Given the description of an element on the screen output the (x, y) to click on. 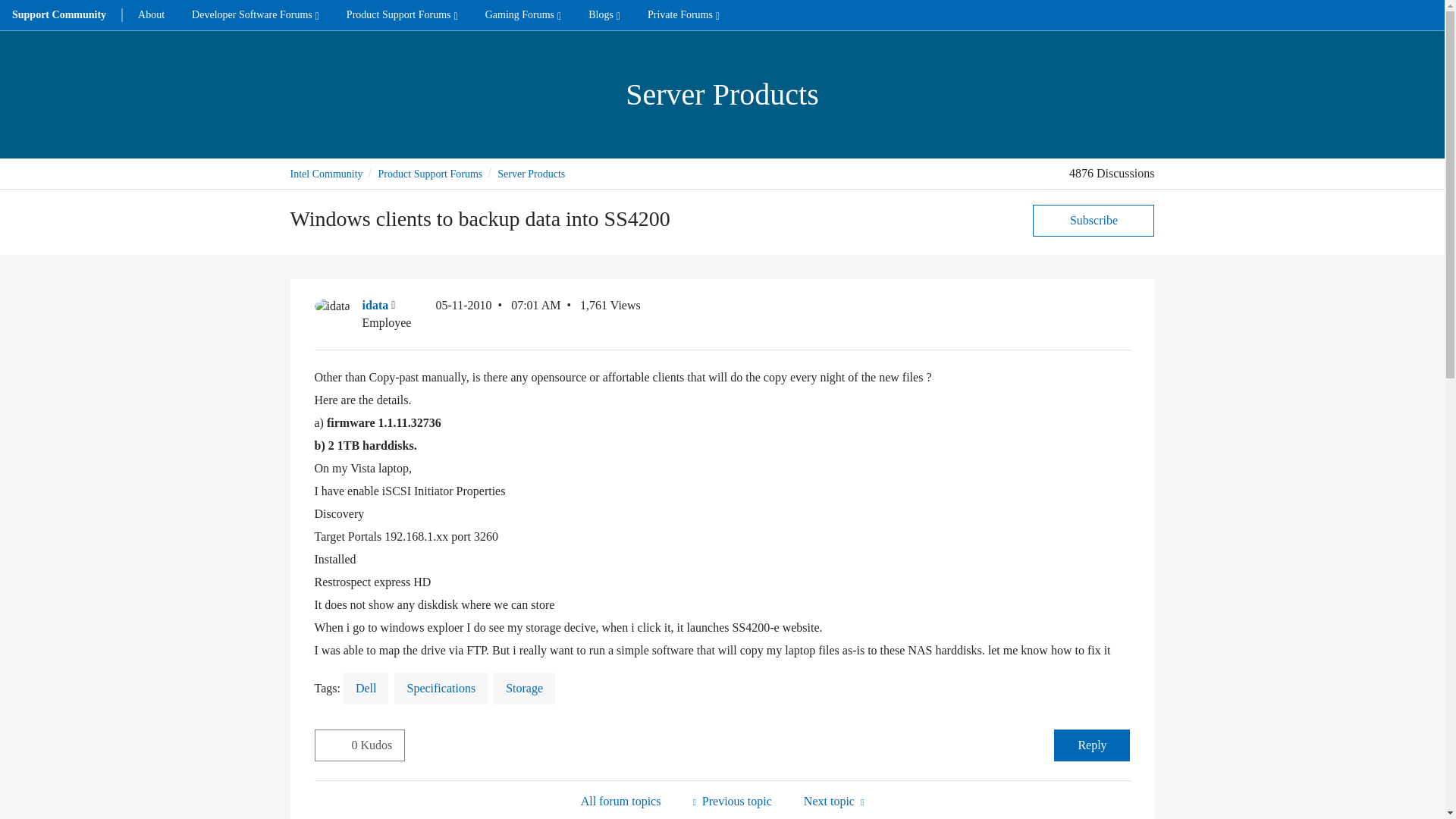
Posted on (497, 314)
The total number of kudos this post has received. (377, 745)
About (150, 15)
Developer Software Forums (255, 15)
S5520SC Retrospective (731, 801)
Vanishing SATA devices (833, 801)
Click here to give kudos to this post. (332, 744)
Support Community (58, 15)
Product Support Forums (402, 15)
idata (331, 306)
Gaming Forums (523, 15)
Blogs (603, 15)
Server Products (620, 801)
